Given the description of an element on the screen output the (x, y) to click on. 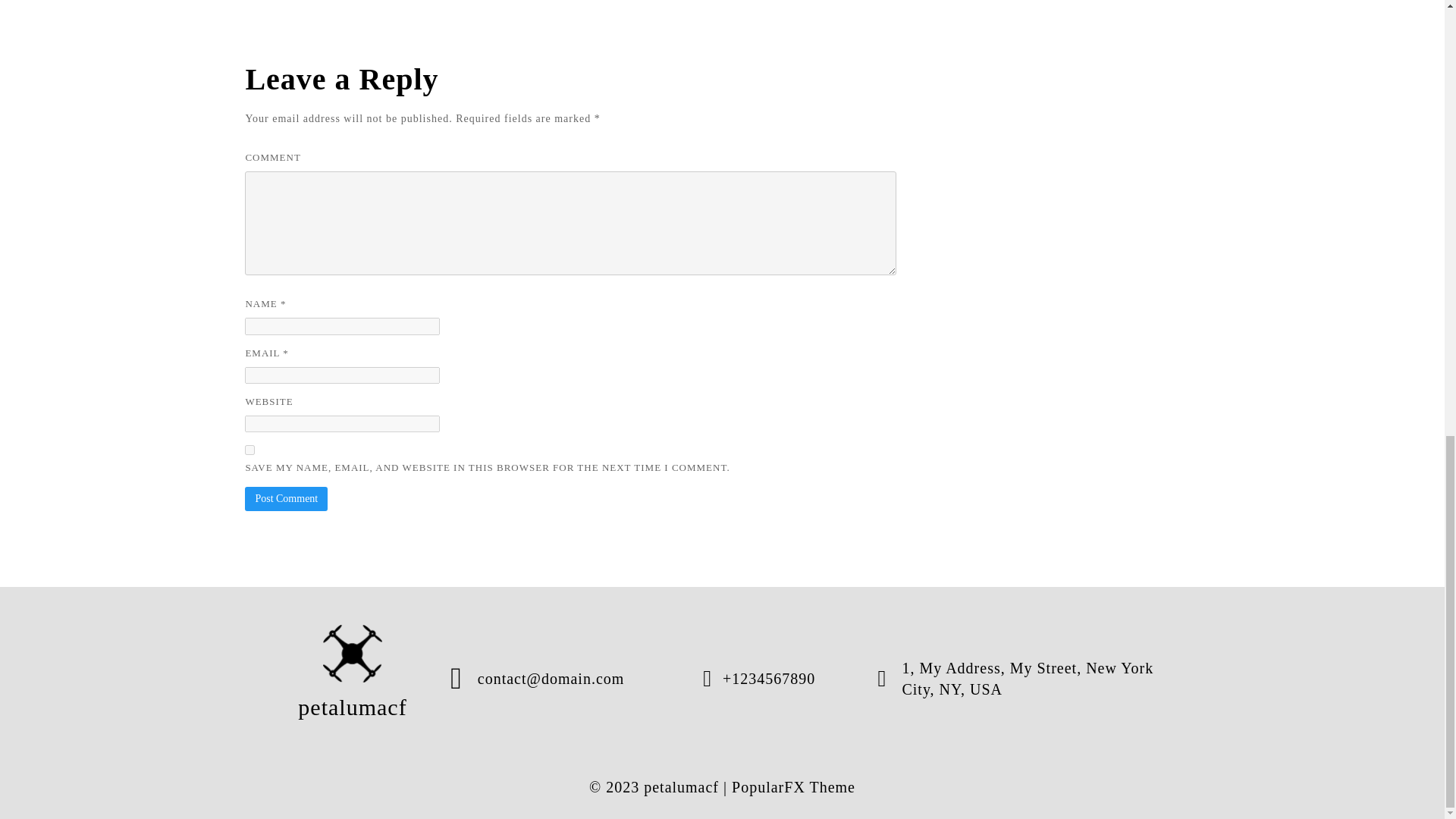
yes (249, 450)
Post Comment (285, 498)
Post Comment (285, 498)
logo (352, 653)
PopularFX Theme (794, 786)
petalumacf (352, 678)
